Given the description of an element on the screen output the (x, y) to click on. 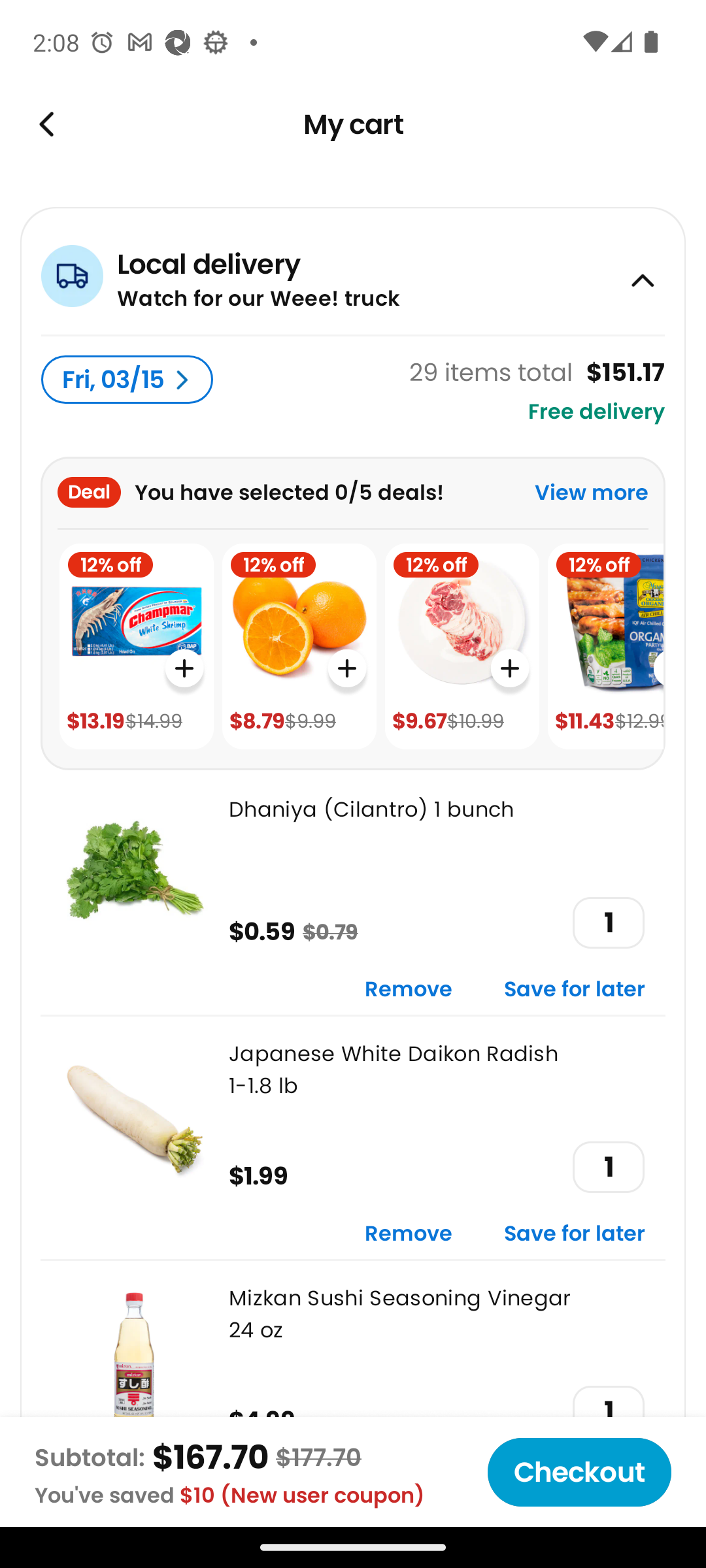
Local delivery Watch for our Weee! truck (352, 269)
Fri, 03/15 (126, 379)
12% off $13.19 $14.99 (136, 646)
12% off $8.79 $9.99 (299, 646)
12% off $9.67 $10.99 (461, 646)
12% off $11.43 $12.99 (605, 646)
1 (608, 922)
Remove (408, 989)
Save for later (574, 989)
1 (608, 1167)
Remove (408, 1234)
Save for later (574, 1234)
Checkout (579, 1471)
